Given the description of an element on the screen output the (x, y) to click on. 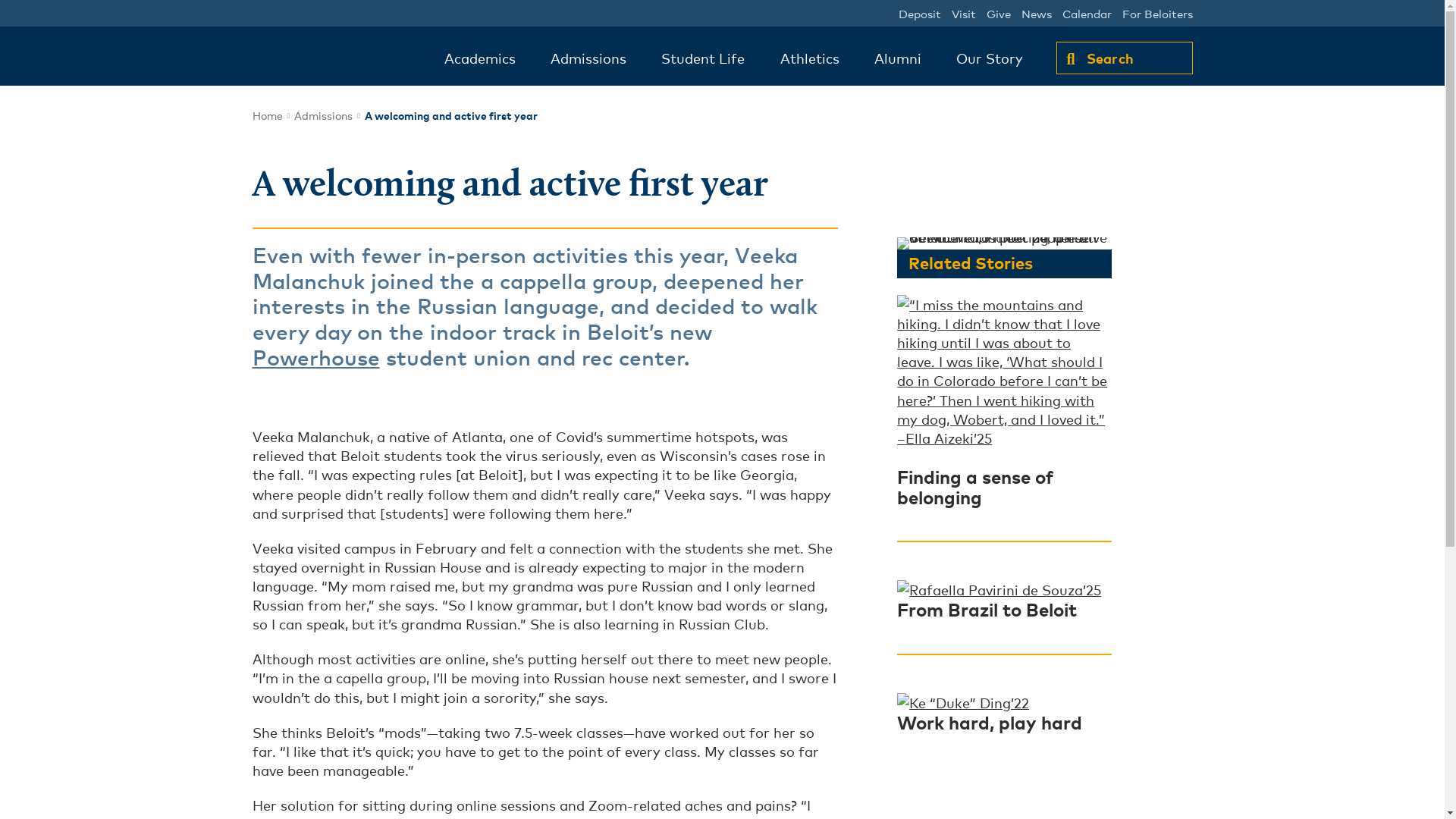
Athletics (810, 58)
From Brazil to Beloit (986, 608)
Admissions (323, 115)
Finding a sense of belonging (974, 485)
Work hard, play hard (988, 721)
A welcoming and active first year (451, 114)
Admissions (588, 58)
For Beloiters (1157, 12)
News (1035, 12)
Calendar (1085, 12)
